Given the description of an element on the screen output the (x, y) to click on. 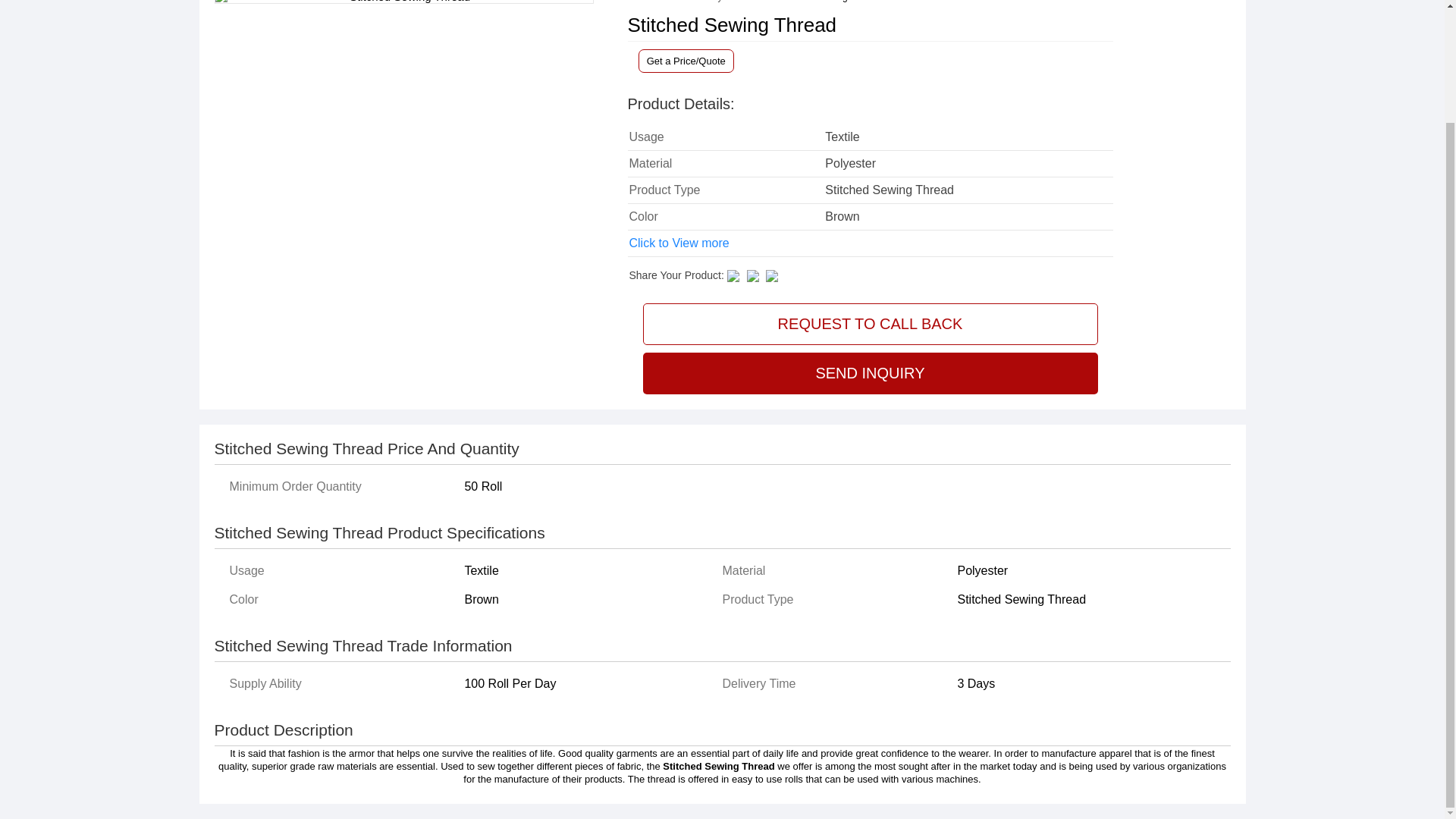
SEND INQUIRY (870, 372)
Home (639, 1)
Products (678, 1)
Click to View more (678, 243)
REQUEST TO CALL BACK (870, 323)
Polyester Thread (738, 1)
